Given the description of an element on the screen output the (x, y) to click on. 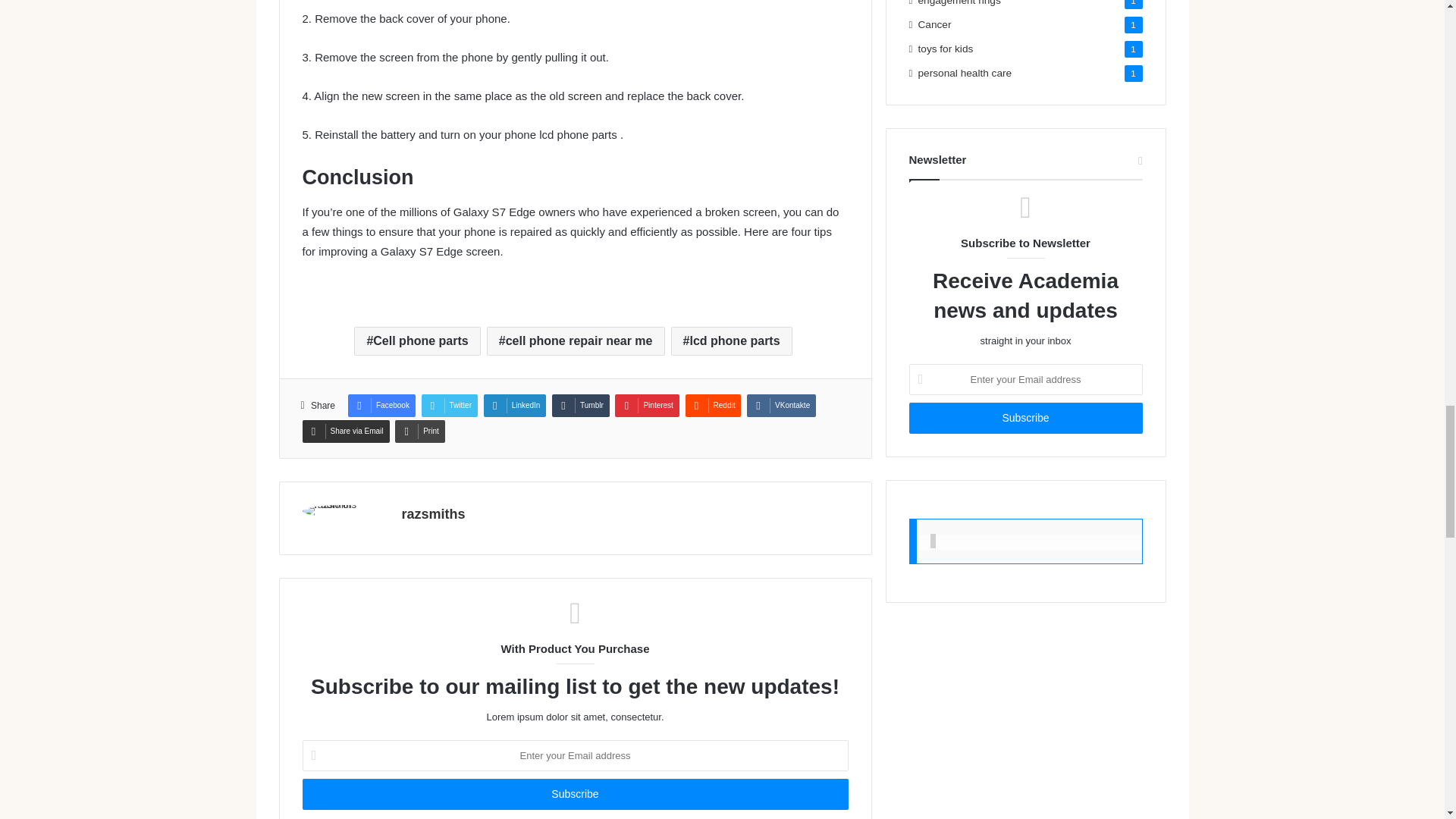
Facebook (380, 404)
Facebook (380, 404)
Tumblr (580, 404)
Share via Email (344, 431)
lcd phone parts (731, 340)
Reddit (713, 404)
Subscribe (574, 793)
Print (419, 431)
VKontakte (780, 404)
Twitter (449, 404)
LinkedIn (515, 404)
Cell phone parts (416, 340)
Pinterest (646, 404)
Subscribe (1025, 418)
Twitter (449, 404)
